Given the description of an element on the screen output the (x, y) to click on. 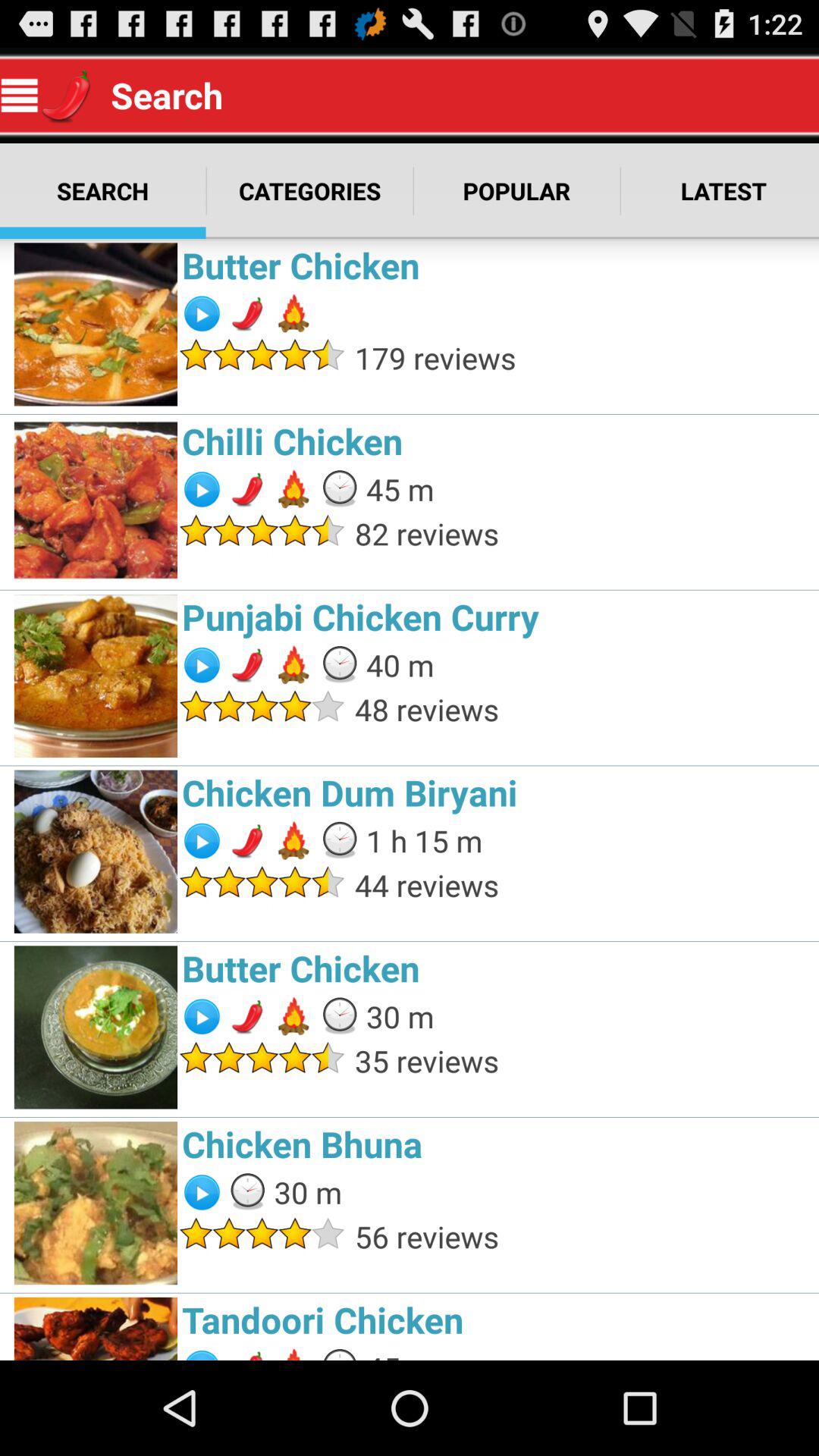
jump to the chilli chicken (496, 440)
